Given the description of an element on the screen output the (x, y) to click on. 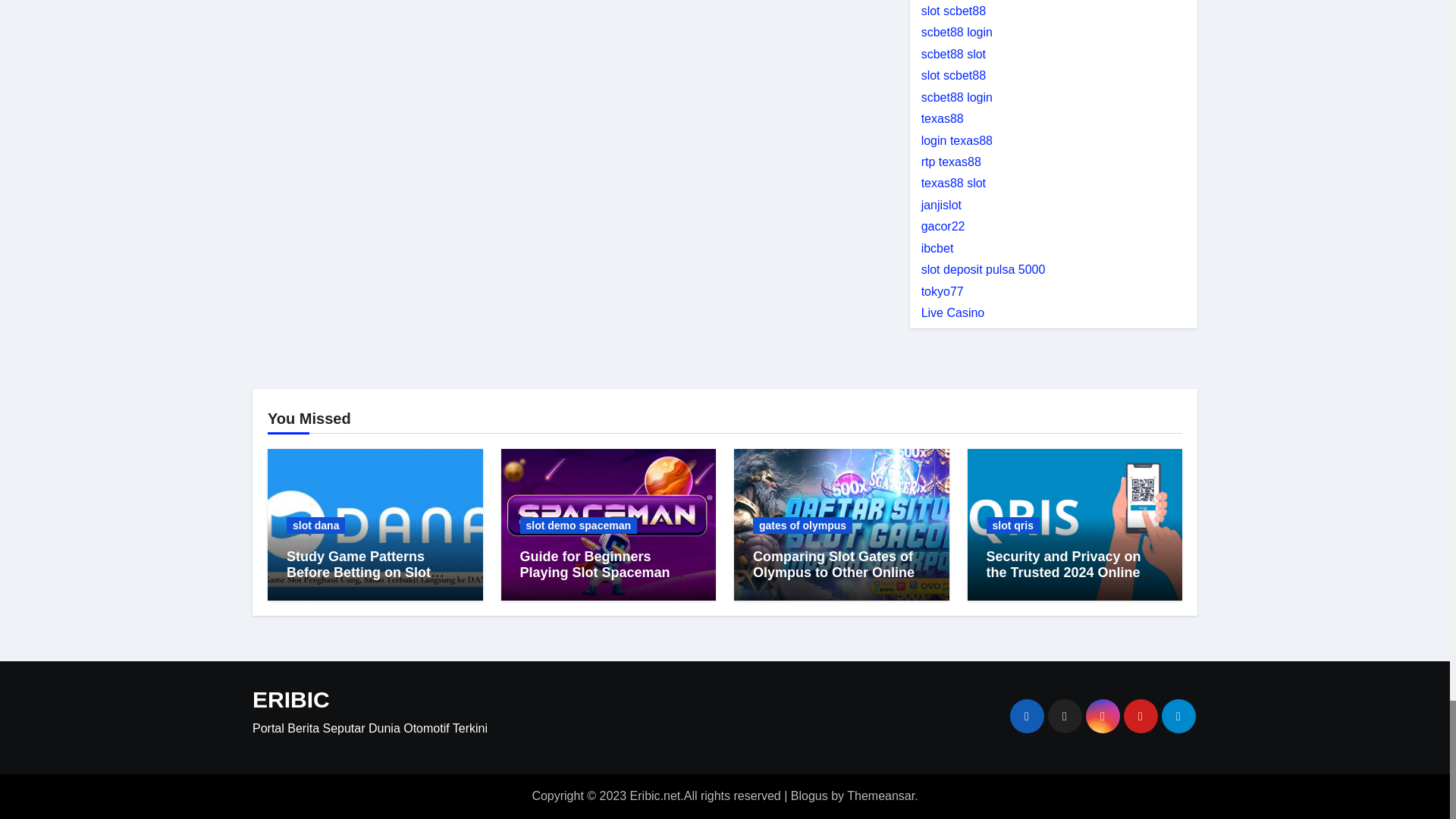
Permalink to: Guide for Beginners Playing Slot Spaceman Demo (601, 572)
